Given the description of an element on the screen output the (x, y) to click on. 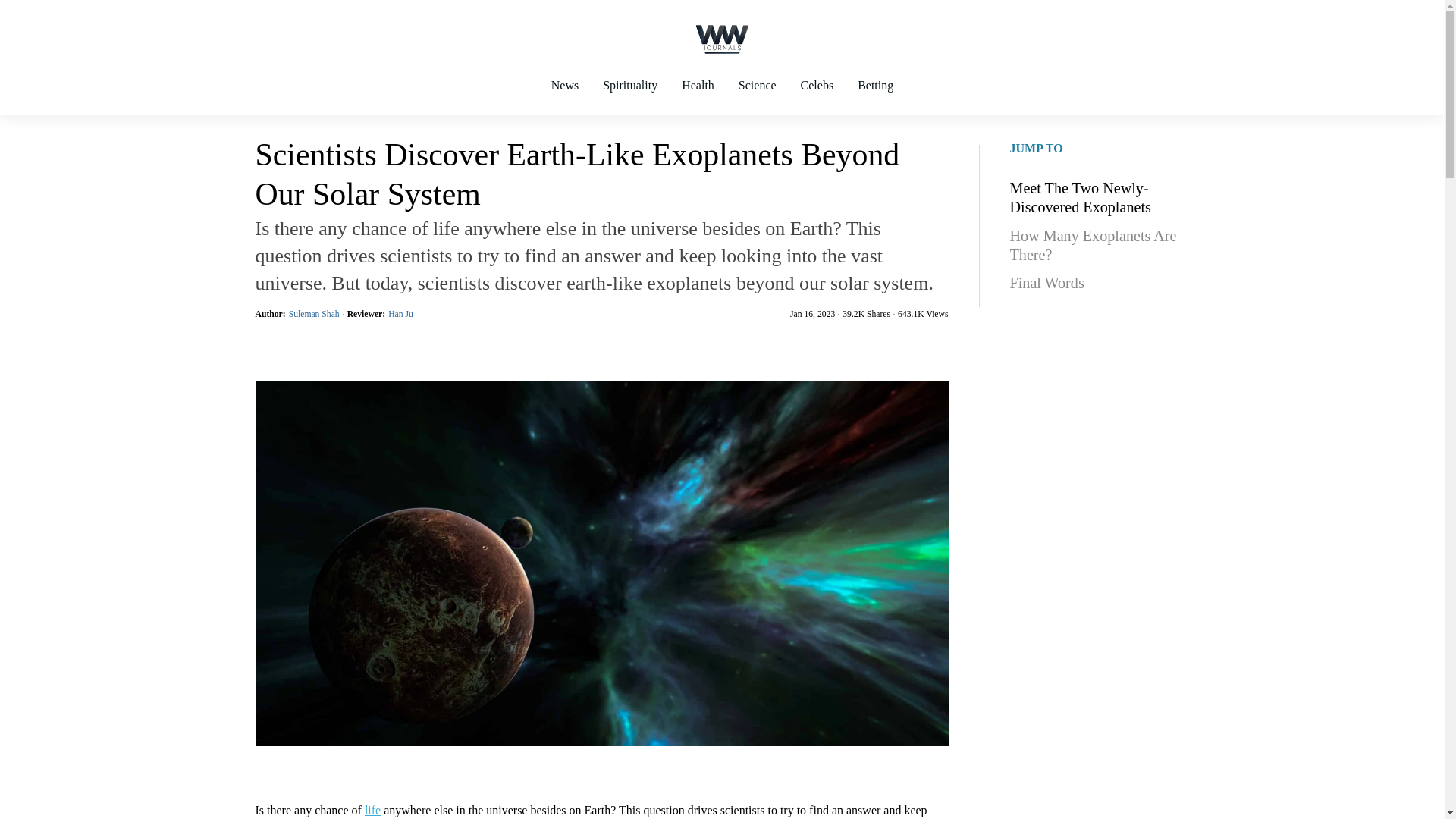
life (372, 809)
Betting (875, 97)
Meet The Two Newly-Discovered Exoplanets (1099, 197)
Science (757, 97)
Health (697, 97)
How Many Exoplanets Are There? (1099, 245)
News (564, 97)
Celebs (817, 97)
Spirituality (630, 97)
